Given the description of an element on the screen output the (x, y) to click on. 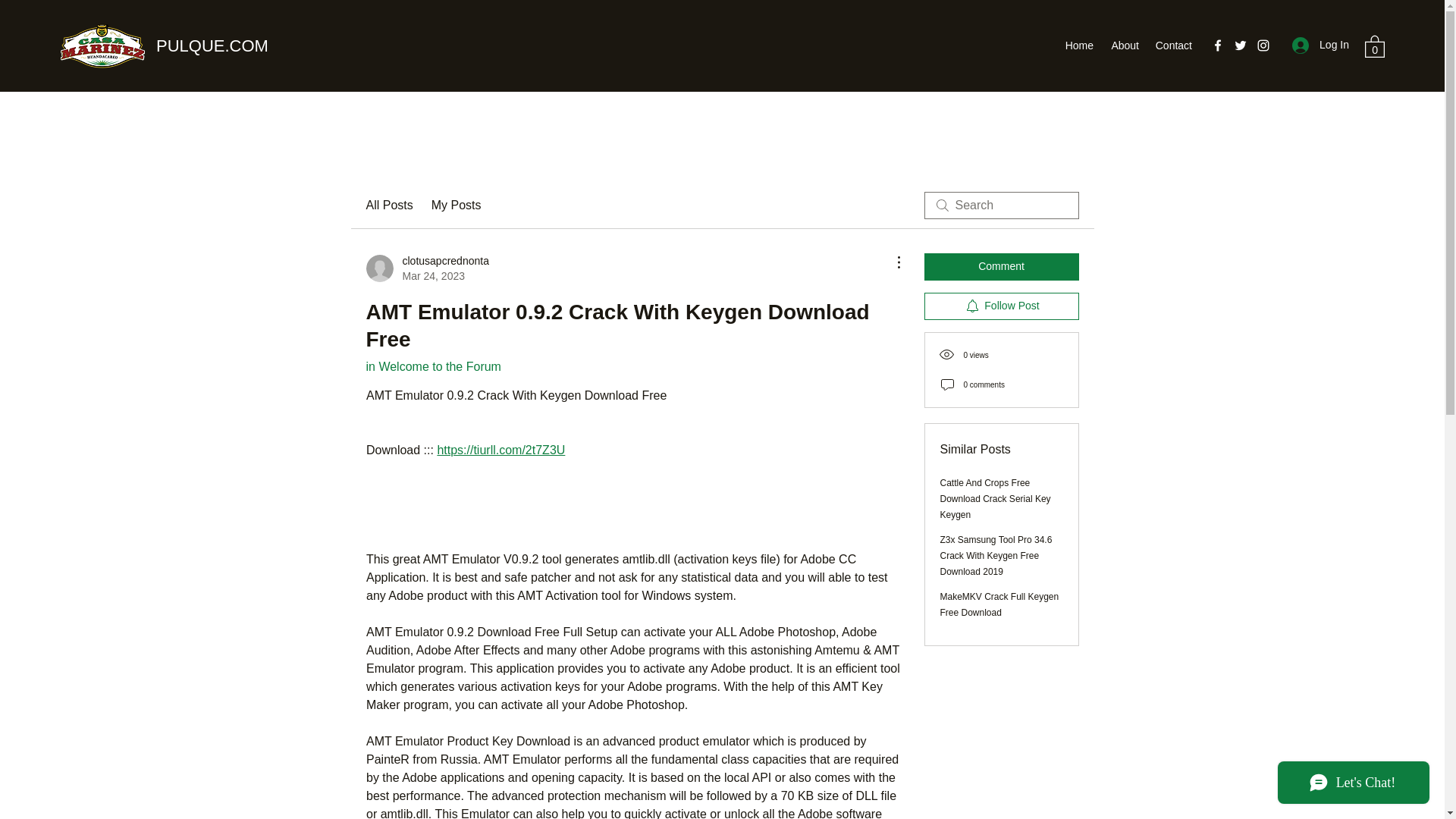
PULQUE.COM (211, 45)
Contact (1173, 45)
Cattle And Crops Free Download Crack Serial Key Keygen (995, 498)
My Posts (455, 205)
Log In (1320, 44)
All Posts (388, 205)
MakeMKV Crack Full Keygen Free Download (999, 604)
About (1123, 45)
Comment (1000, 266)
